Given the description of an element on the screen output the (x, y) to click on. 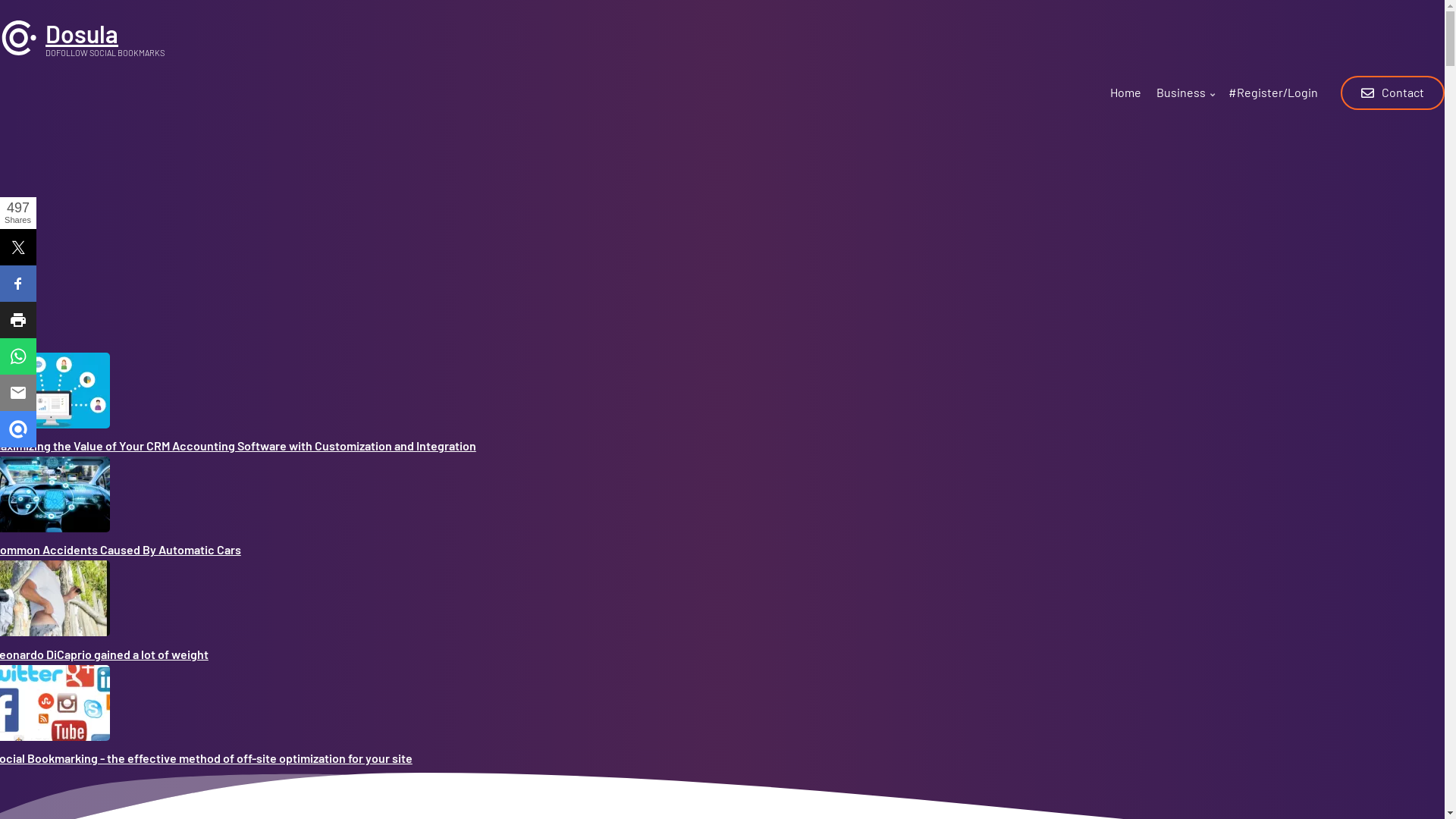
Skip to main content Element type: text (0, 0)
Dosula Element type: text (81, 32)
Home Element type: hover (18, 51)
Home Element type: text (1125, 96)
#Register/Login Element type: text (1272, 96)
Contact Element type: text (1392, 92)
